Given the description of an element on the screen output the (x, y) to click on. 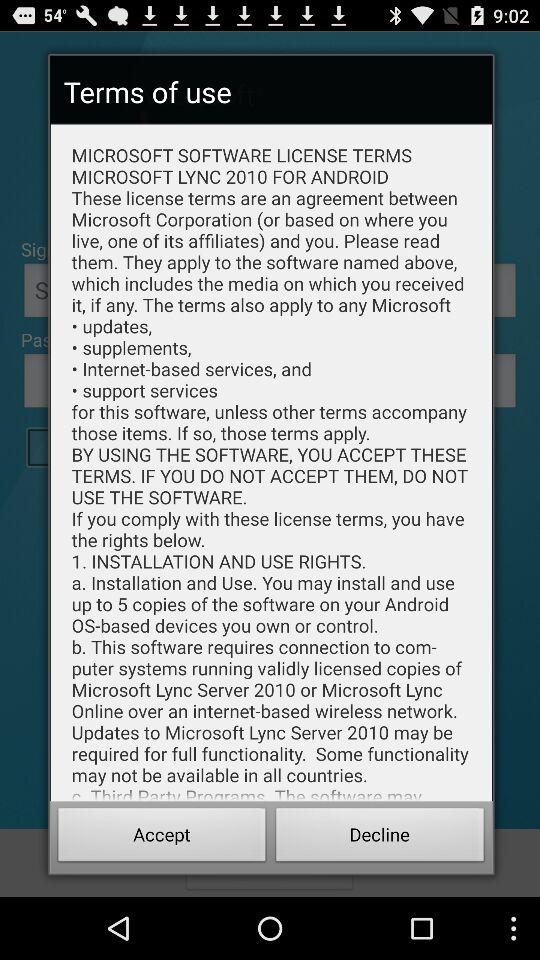
choose the item to the left of the decline button (162, 837)
